Given the description of an element on the screen output the (x, y) to click on. 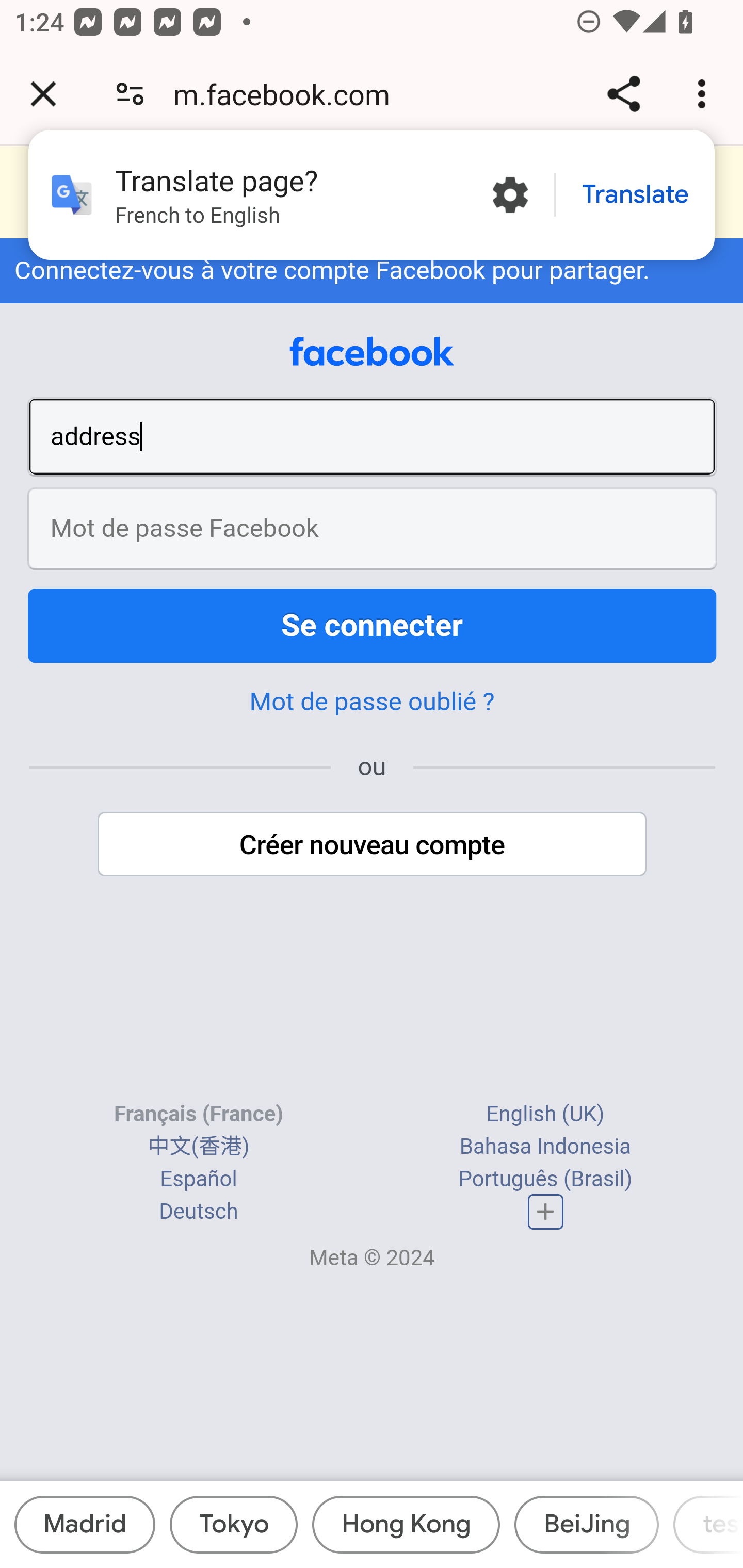
Close tab (43, 93)
Share (623, 93)
Customize and control Google Chrome (705, 93)
Connection is secure (129, 93)
m.facebook.com (288, 93)
Translate (634, 195)
More options in the Translate page? (509, 195)
facebook (372, 351)
address (372, 436)
Se connecter (372, 624)
Mot de passe oublié ? (371, 701)
Créer nouveau compte (372, 844)
English (UK) (544, 1113)
中文(香港) (198, 1146)
Bahasa Indonesia (545, 1146)
Español (198, 1179)
Português (Brasil) (544, 1179)
Liste complète des langues (545, 1211)
Deutsch (198, 1211)
Madrid (84, 1524)
Tokyo (233, 1524)
Hong Kong (406, 1524)
BeiJing (586, 1524)
